Given the description of an element on the screen output the (x, y) to click on. 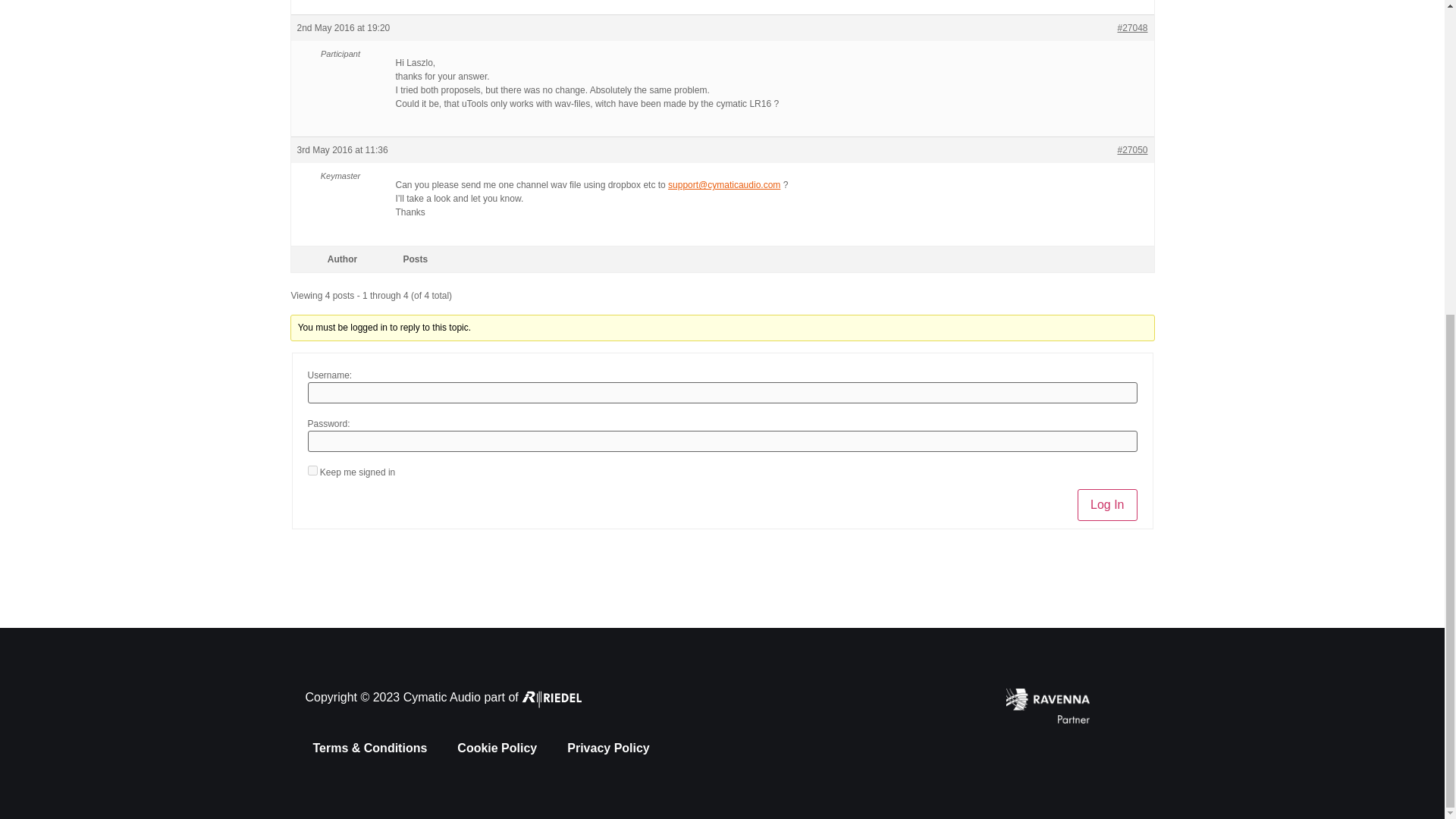
forever (312, 470)
Log In (1107, 504)
Privacy Policy (608, 748)
Cookie Policy (496, 748)
